Given the description of an element on the screen output the (x, y) to click on. 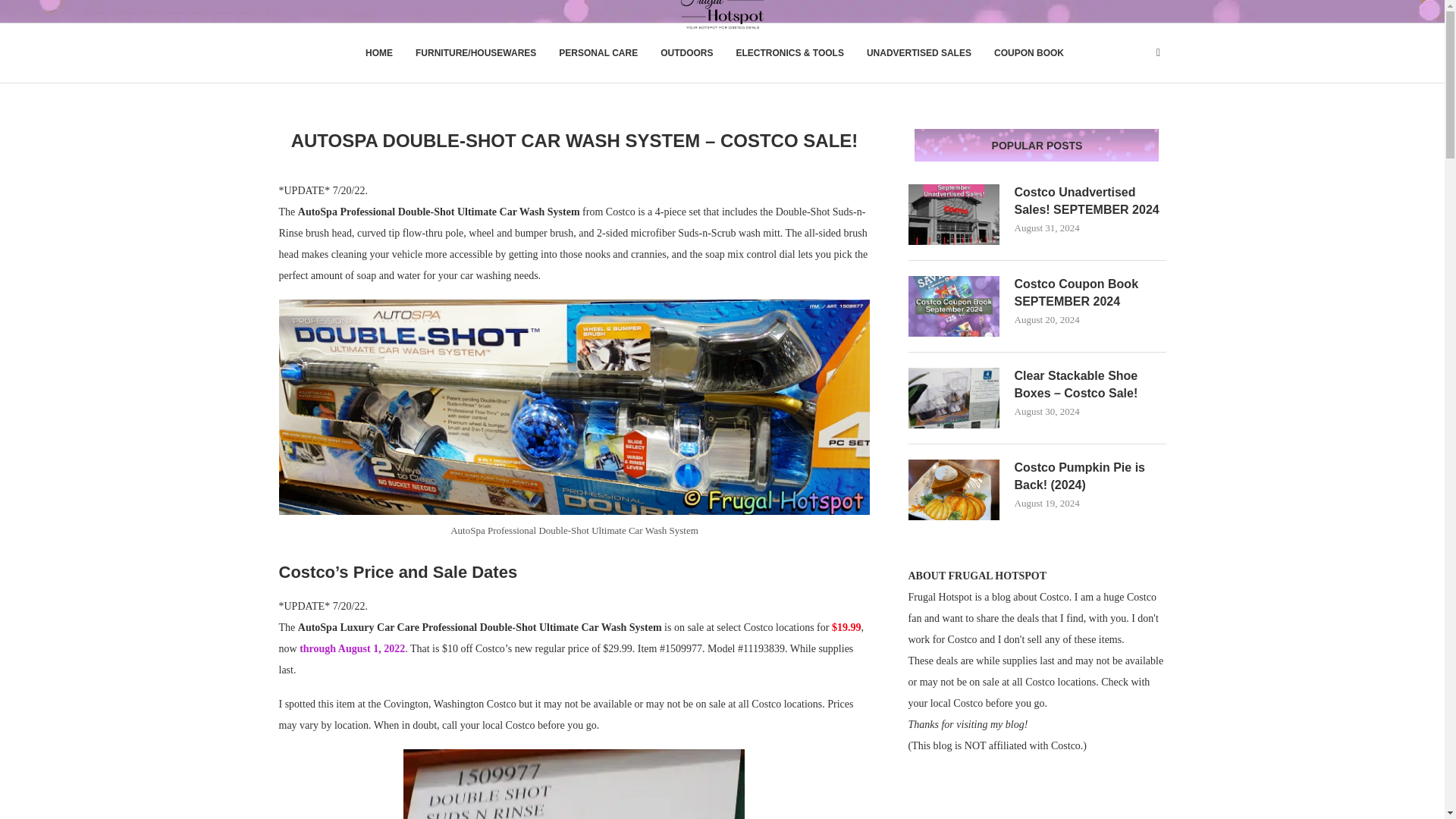
Costco Unadvertised Sales! SEPTEMBER 2024 (1090, 201)
OUTDOORS (687, 53)
UNADVERTISED SALES (918, 53)
Costco Coupon Book SEPTEMBER 2024 (1090, 293)
COUPON BOOK (1029, 53)
Costco Coupon Book SEPTEMBER 2024 (953, 306)
Costco Unadvertised Sales! SEPTEMBER 2024 (953, 214)
PERSONAL CARE (598, 53)
